Given the description of an element on the screen output the (x, y) to click on. 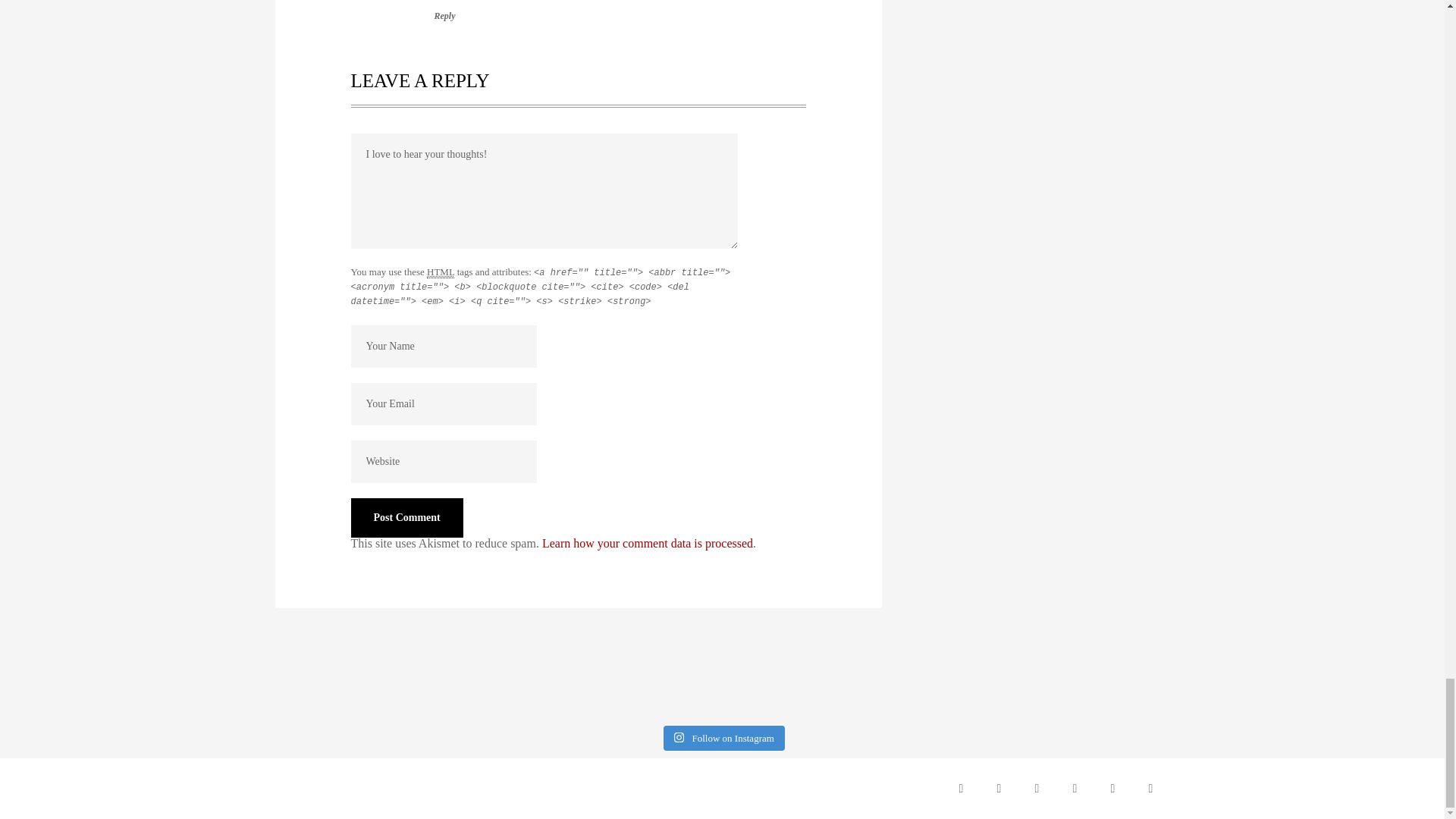
Your Email (442, 404)
HyperText Markup Language (440, 272)
Your Name (442, 346)
Post Comment (406, 517)
Website (442, 461)
